Given the description of an element on the screen output the (x, y) to click on. 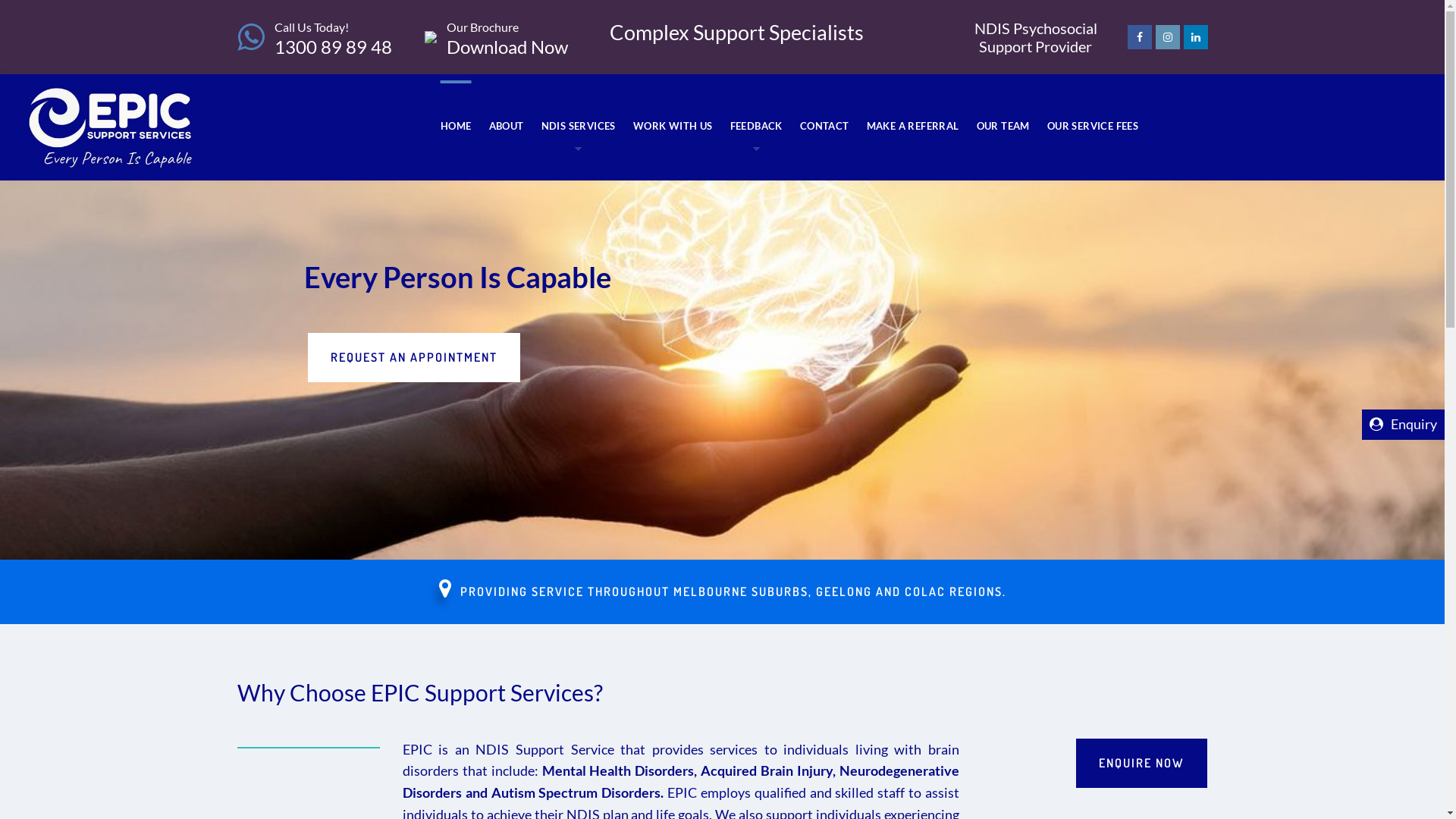
OUR TEAM Element type: text (1002, 120)
HOME Element type: text (455, 120)
FEEDBACK Element type: text (756, 120)
ENQUIRE NOW Element type: text (1141, 762)
OUR SERVICE FEES Element type: text (1092, 120)
NDIS SERVICES Element type: text (578, 120)
Enquiry Element type: text (1402, 424)
MAKE A REFERRAL Element type: text (912, 120)
REQUEST AN APPOINTMENT Element type: text (413, 357)
Call Us Today!
1300 89 89 48 Element type: text (333, 37)
ABOUT Element type: text (506, 120)
CONTACT Element type: text (824, 120)
WORK WITH US Element type: text (672, 120)
Our Brochure
Download Now Element type: text (506, 37)
NDIS Psychosocial
Support Provider Element type: text (1034, 36)
